Given the description of an element on the screen output the (x, y) to click on. 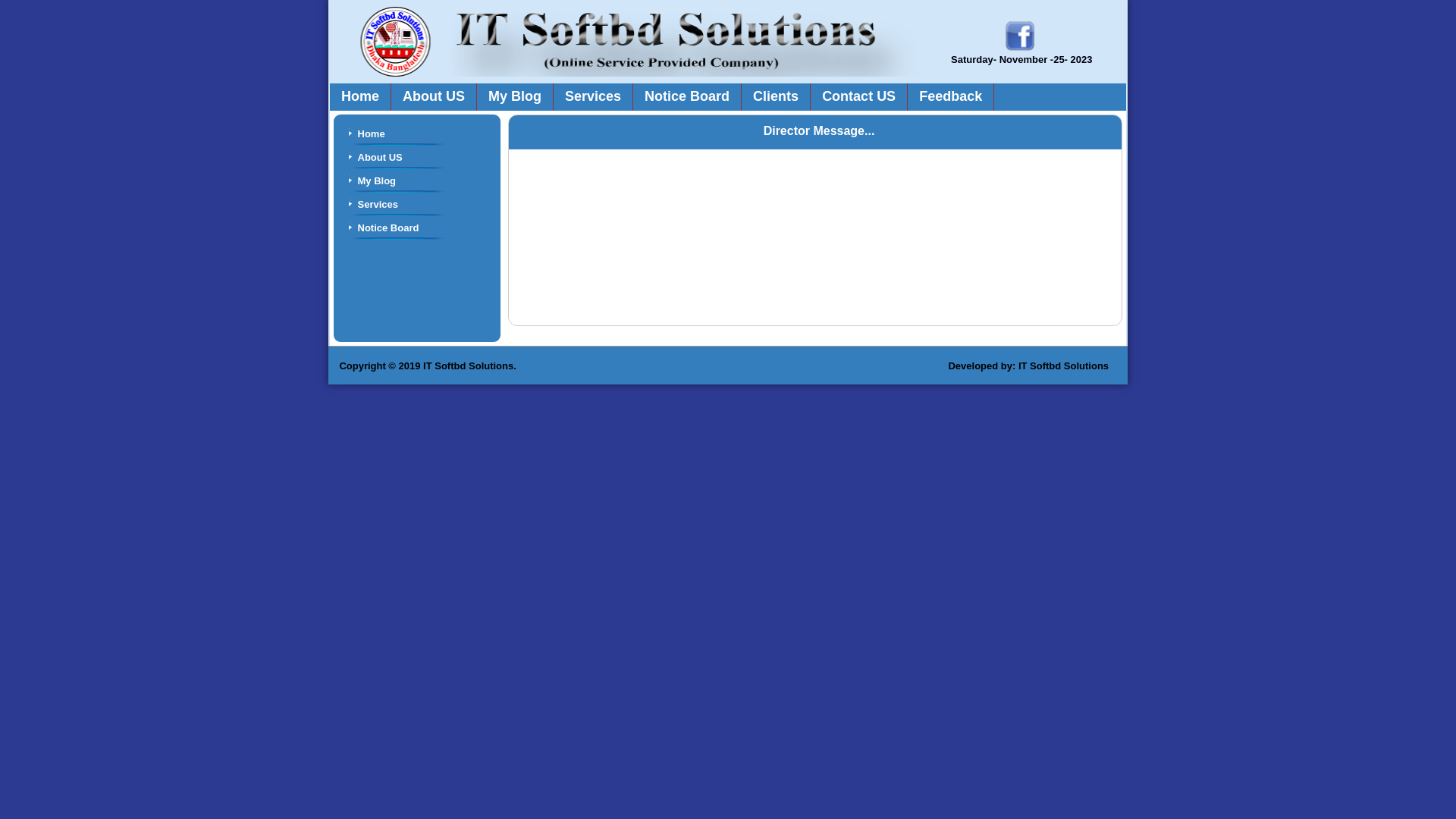
My Blog Element type: text (417, 180)
Feedback Element type: text (950, 96)
Home Element type: text (417, 133)
Clients Element type: text (775, 96)
IT Softbd Solutions   Element type: text (1065, 364)
Home Element type: text (360, 96)
My Blog Element type: text (514, 96)
About US Element type: text (433, 96)
Notice Board Element type: text (687, 96)
Services Element type: text (417, 204)
Contact US Element type: text (858, 96)
Services Element type: text (593, 96)
About US Element type: text (417, 157)
Notice Board Element type: text (417, 227)
